Given the description of an element on the screen output the (x, y) to click on. 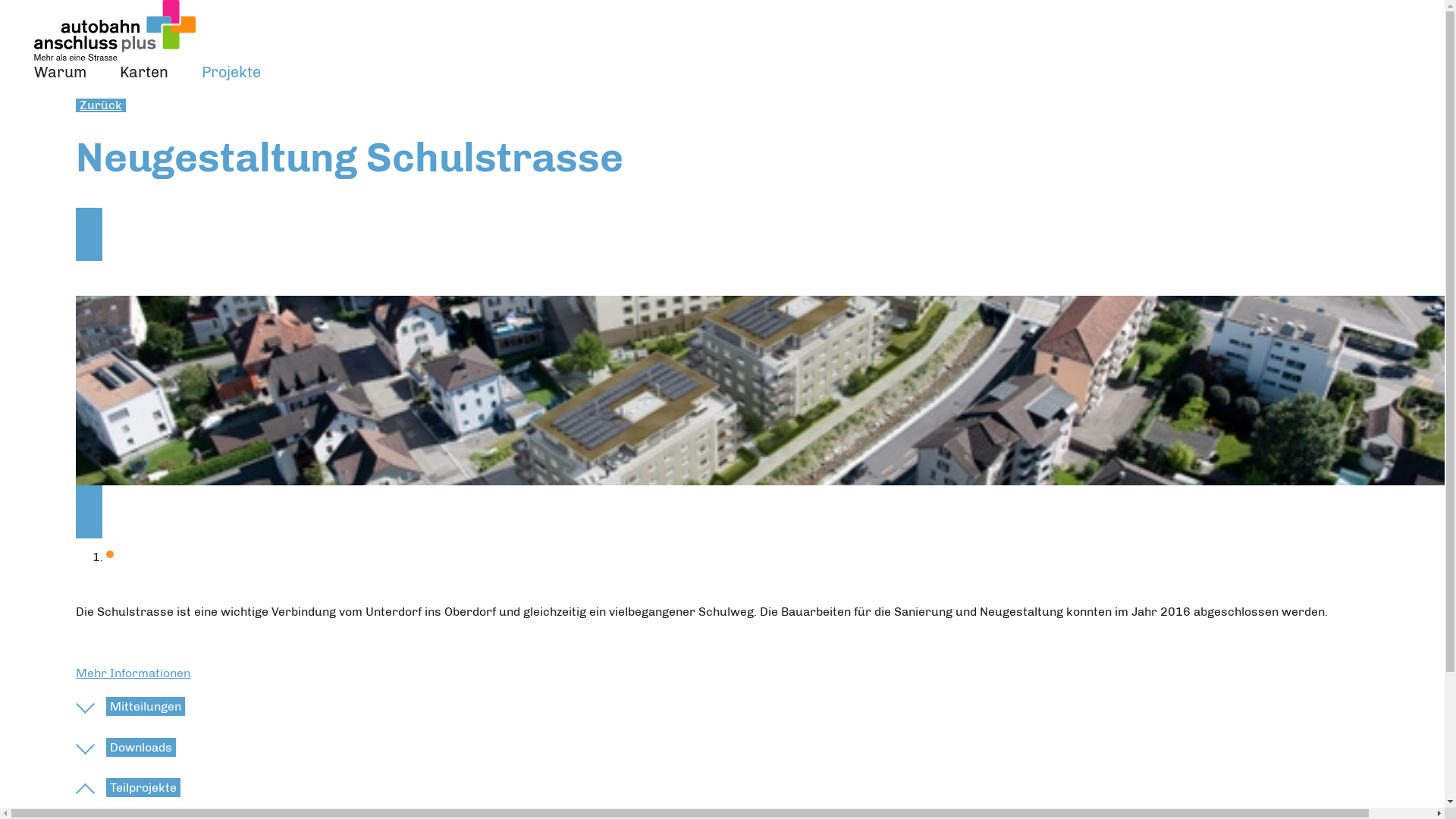
schulstrasse.jpg Element type: hover (759, 390)
Projekte Element type: text (230, 71)
Autobahnanschluss Plus Element type: hover (114, 30)
Karten Element type: text (143, 71)
Warum Element type: text (60, 71)
Mehr Informationen Element type: text (132, 672)
